Given the description of an element on the screen output the (x, y) to click on. 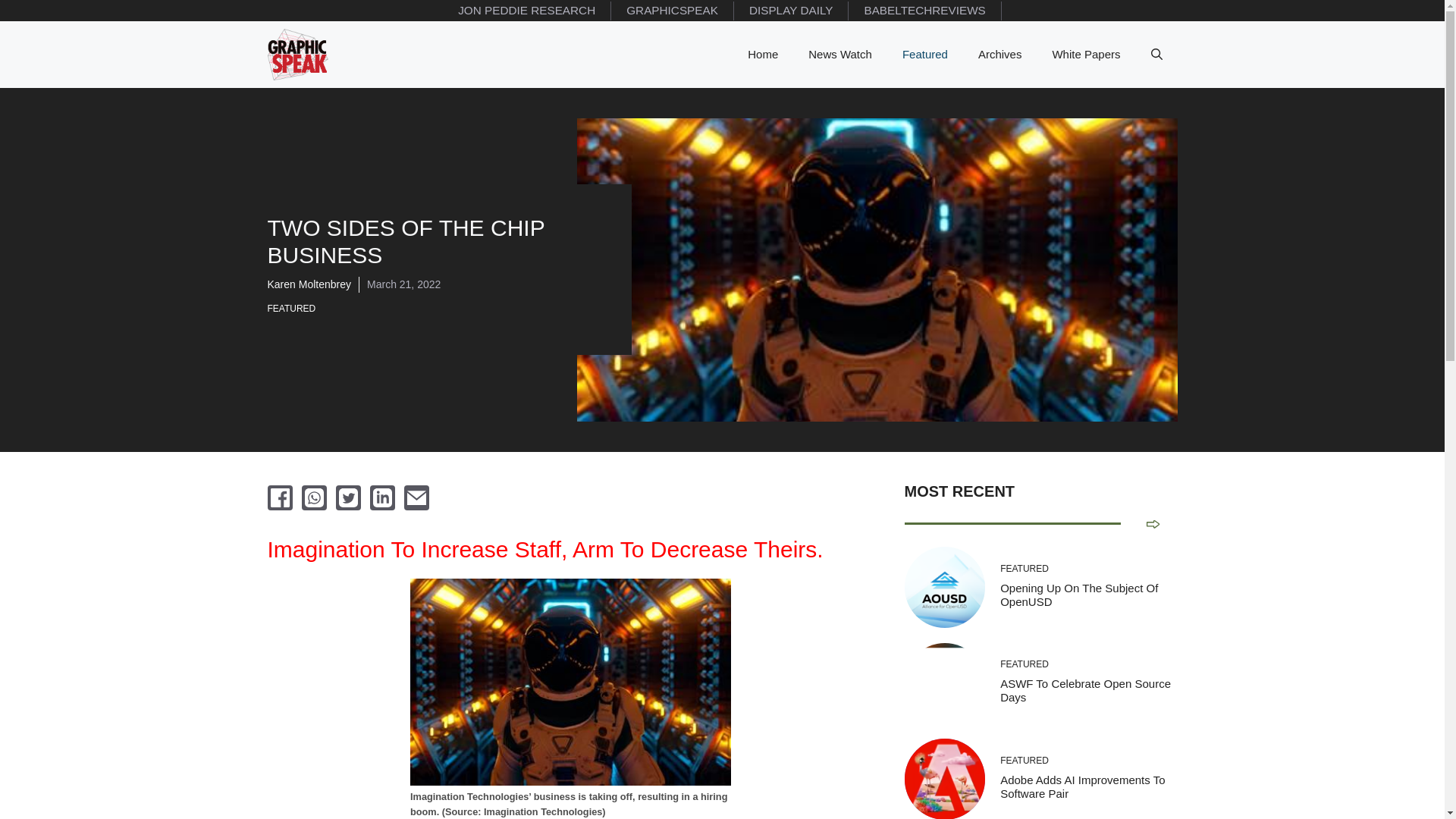
Karen Moltenbrey (308, 284)
GRAPHICSPEAK (672, 10)
Archives (999, 54)
FEATURED (294, 308)
DISPLAY DAILY (790, 10)
White Papers (1085, 54)
News Watch (839, 54)
Featured (924, 54)
BABELTECHREVIEWS (924, 10)
JON PEDDIE RESEARCH (526, 10)
Home (762, 54)
